Given the description of an element on the screen output the (x, y) to click on. 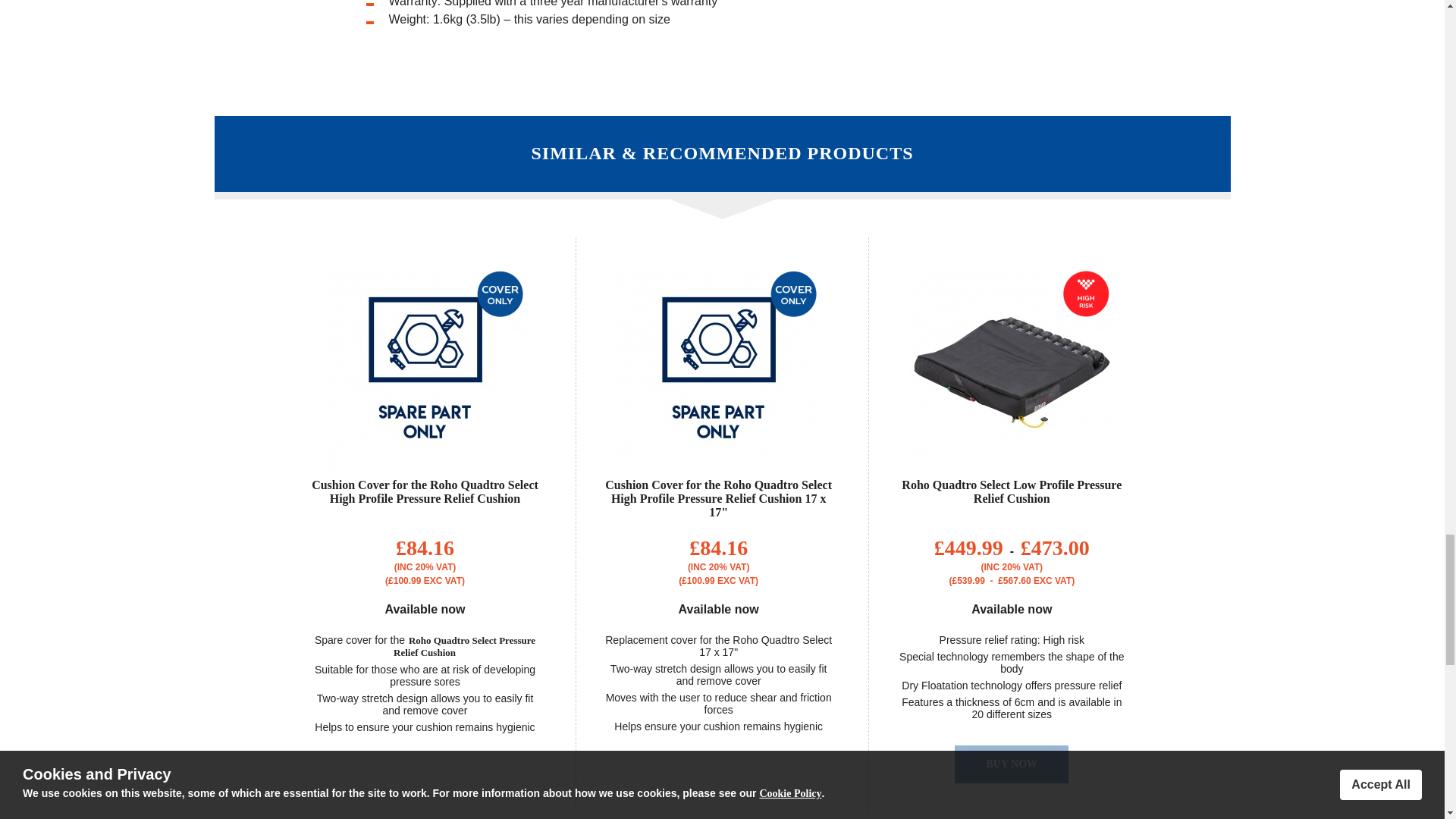
Roho Quadtro Select Low Profile Pressure Relief Cushion (1011, 491)
Roho Quadtro Select Pressure Relief Cushion (464, 646)
BUY NOW (1011, 763)
